Given the description of an element on the screen output the (x, y) to click on. 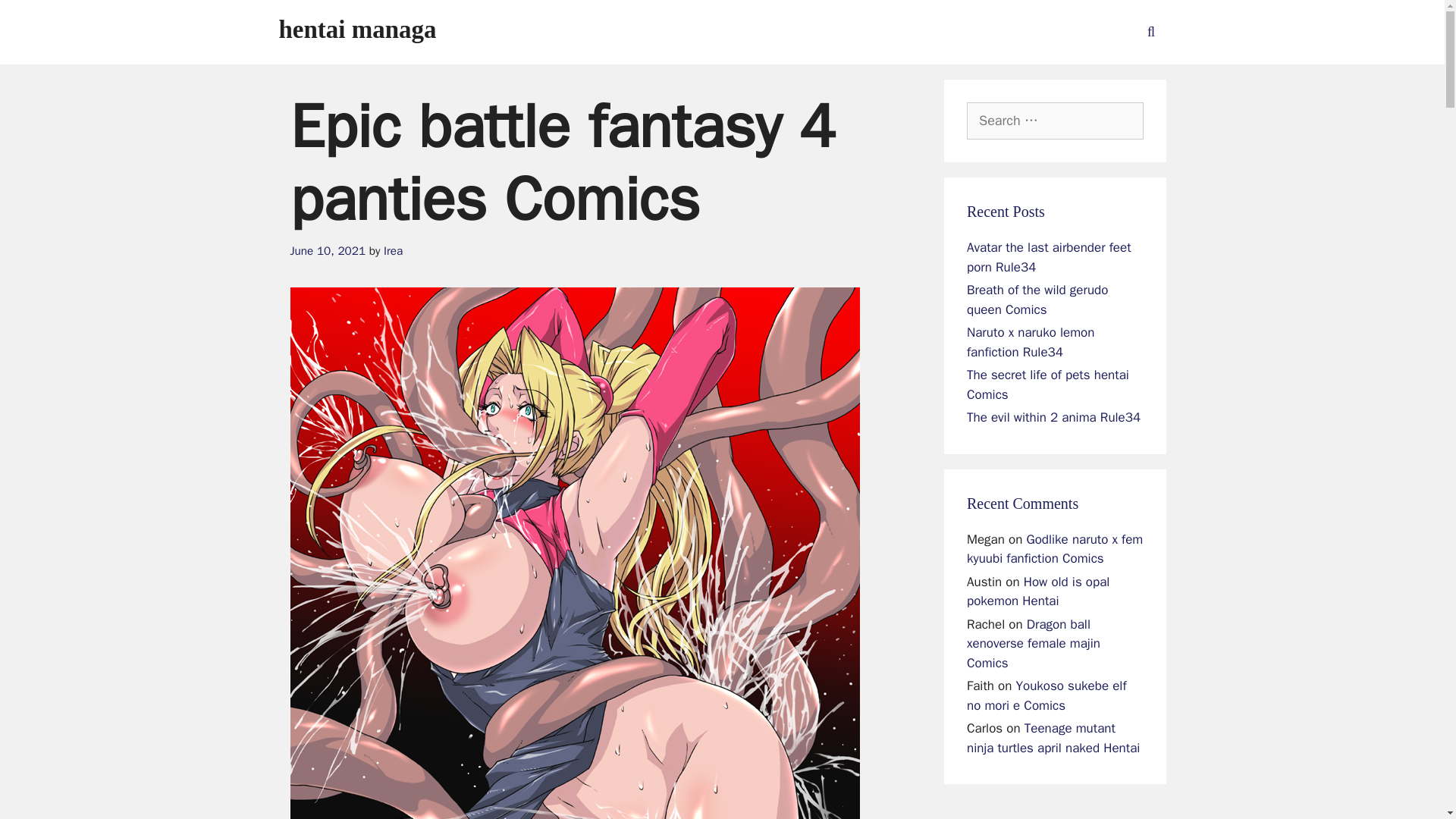
hentai managa (357, 29)
The secret life of pets hentai Comics (1047, 384)
June 10, 2021 (327, 250)
Search (35, 18)
The evil within 2 anima Rule34 (1053, 417)
Teenage mutant ninja turtles april naked Hentai (1053, 737)
5:52 pm (327, 250)
How old is opal pokemon Hentai (1037, 591)
View all posts by Irea (393, 250)
Avatar the last airbender feet porn Rule34 (1048, 257)
